Given the description of an element on the screen output the (x, y) to click on. 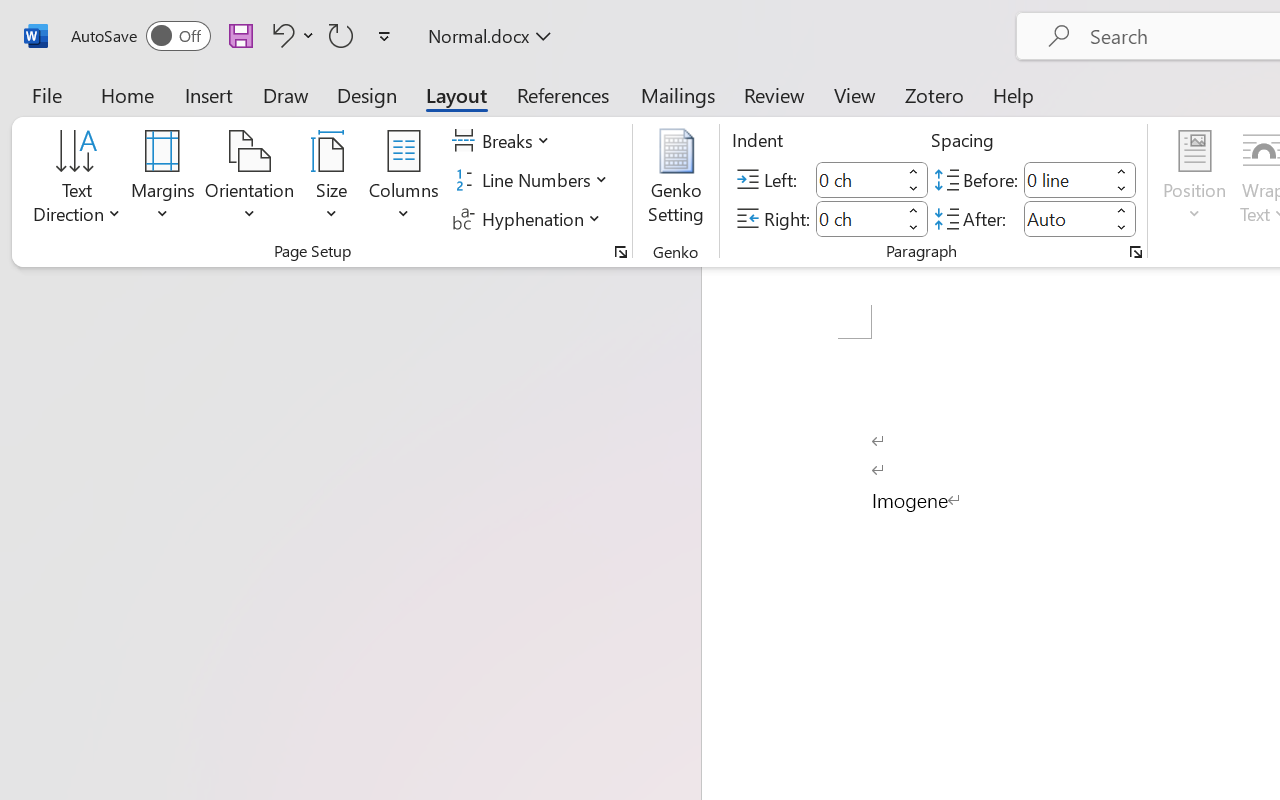
Size (331, 179)
Position (1194, 179)
Columns (404, 179)
Hyphenation (529, 218)
Genko Setting... (676, 179)
Undo Paragraph Formatting (290, 35)
Breaks (504, 141)
Help (1013, 94)
